Given the description of an element on the screen output the (x, y) to click on. 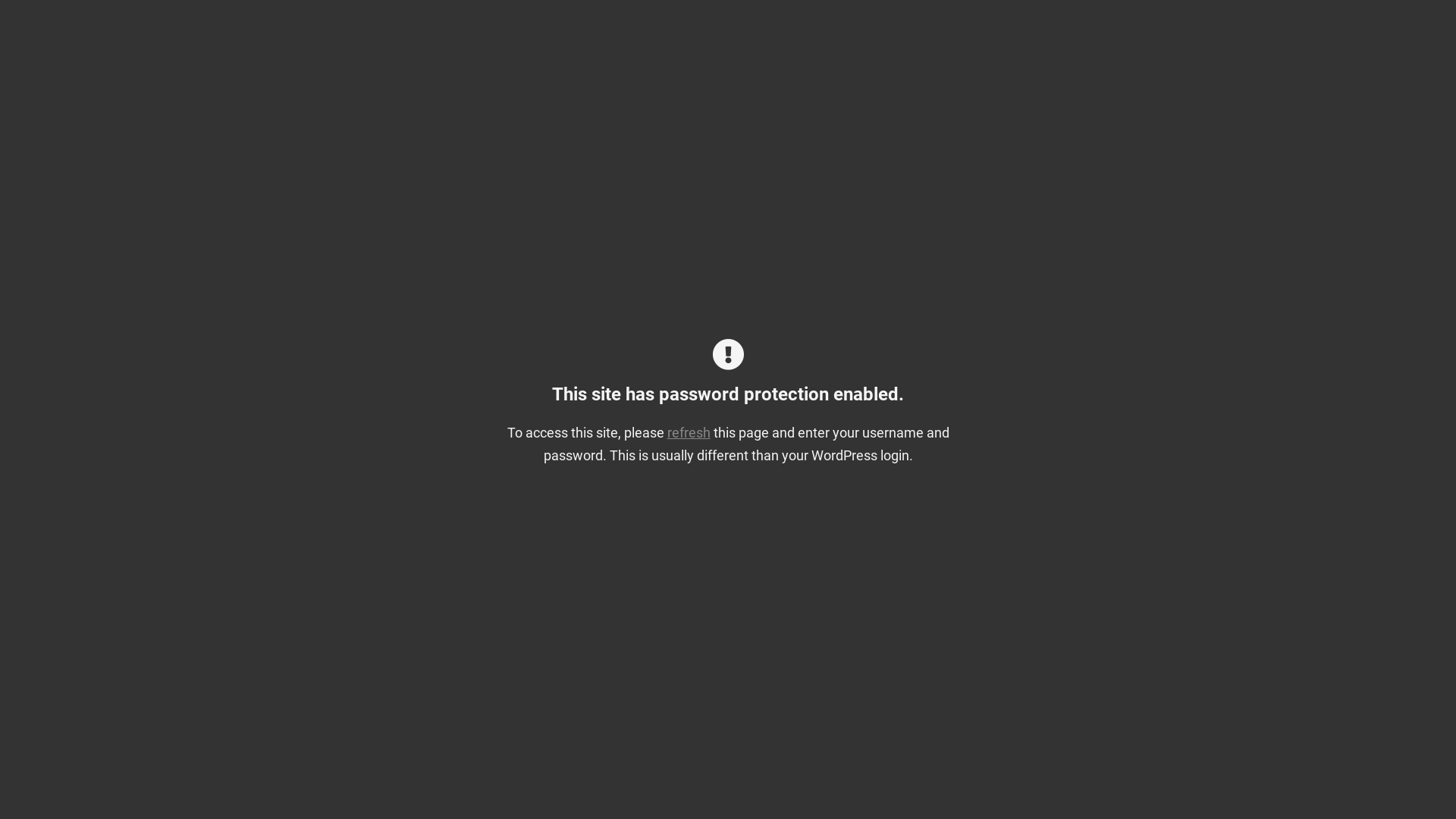
refresh Element type: text (688, 432)
